Given the description of an element on the screen output the (x, y) to click on. 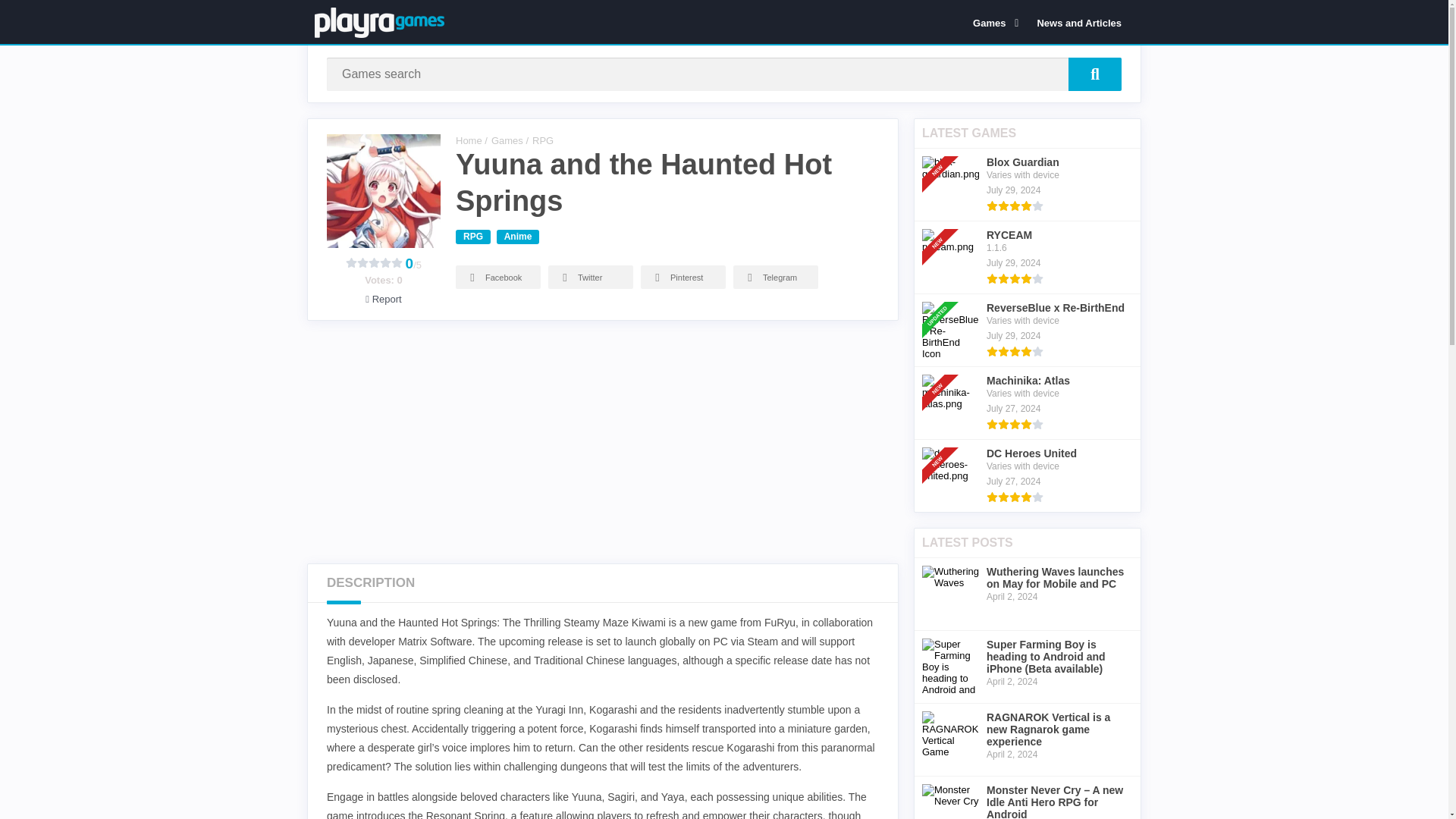
Games (992, 22)
New (942, 223)
New (942, 150)
New (942, 368)
Updated (942, 296)
New (942, 441)
Games search (1094, 73)
